Given the description of an element on the screen output the (x, y) to click on. 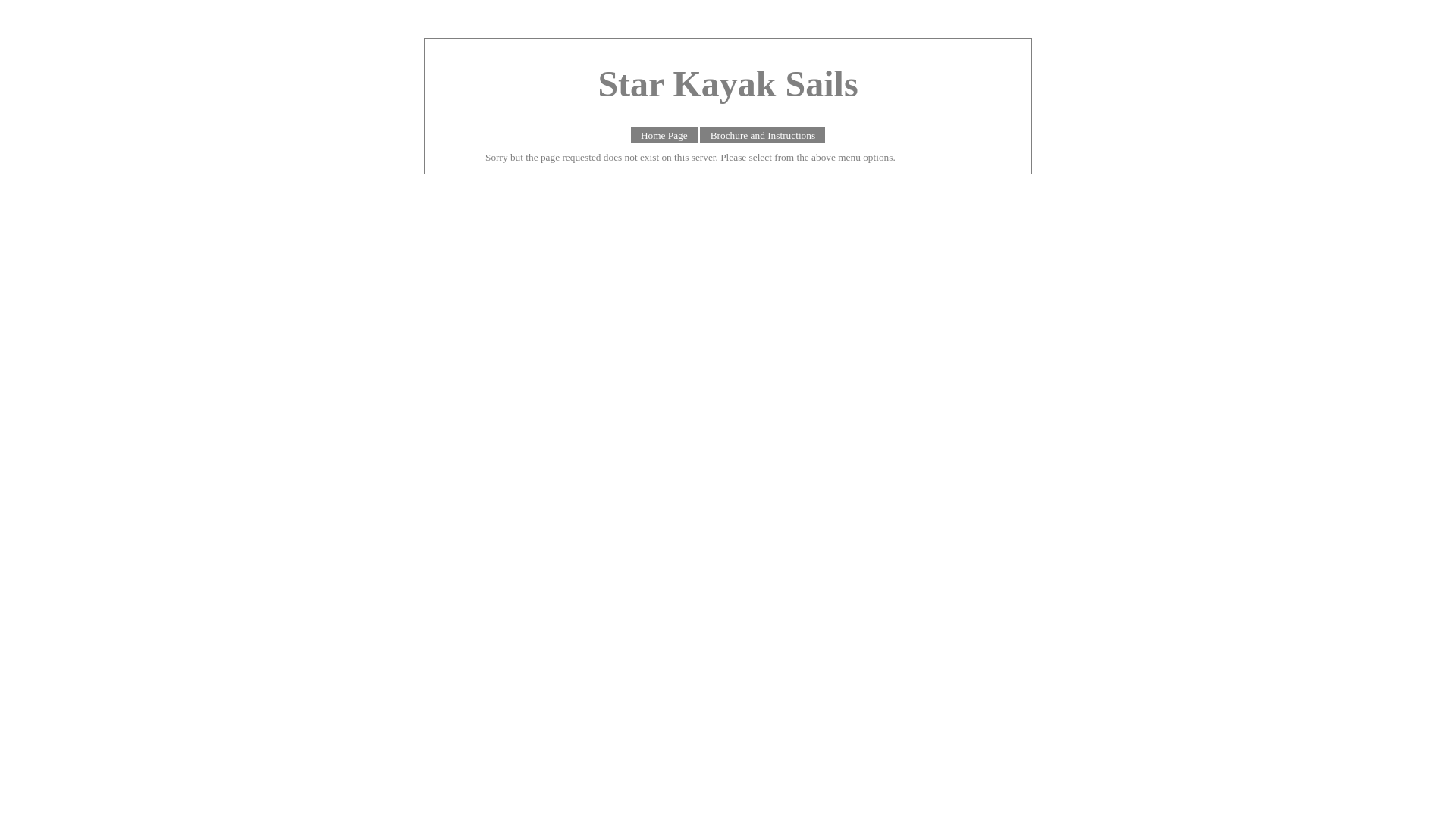
Brochure and Instructions Element type: text (762, 134)
Home Page Element type: text (663, 134)
